Given the description of an element on the screen output the (x, y) to click on. 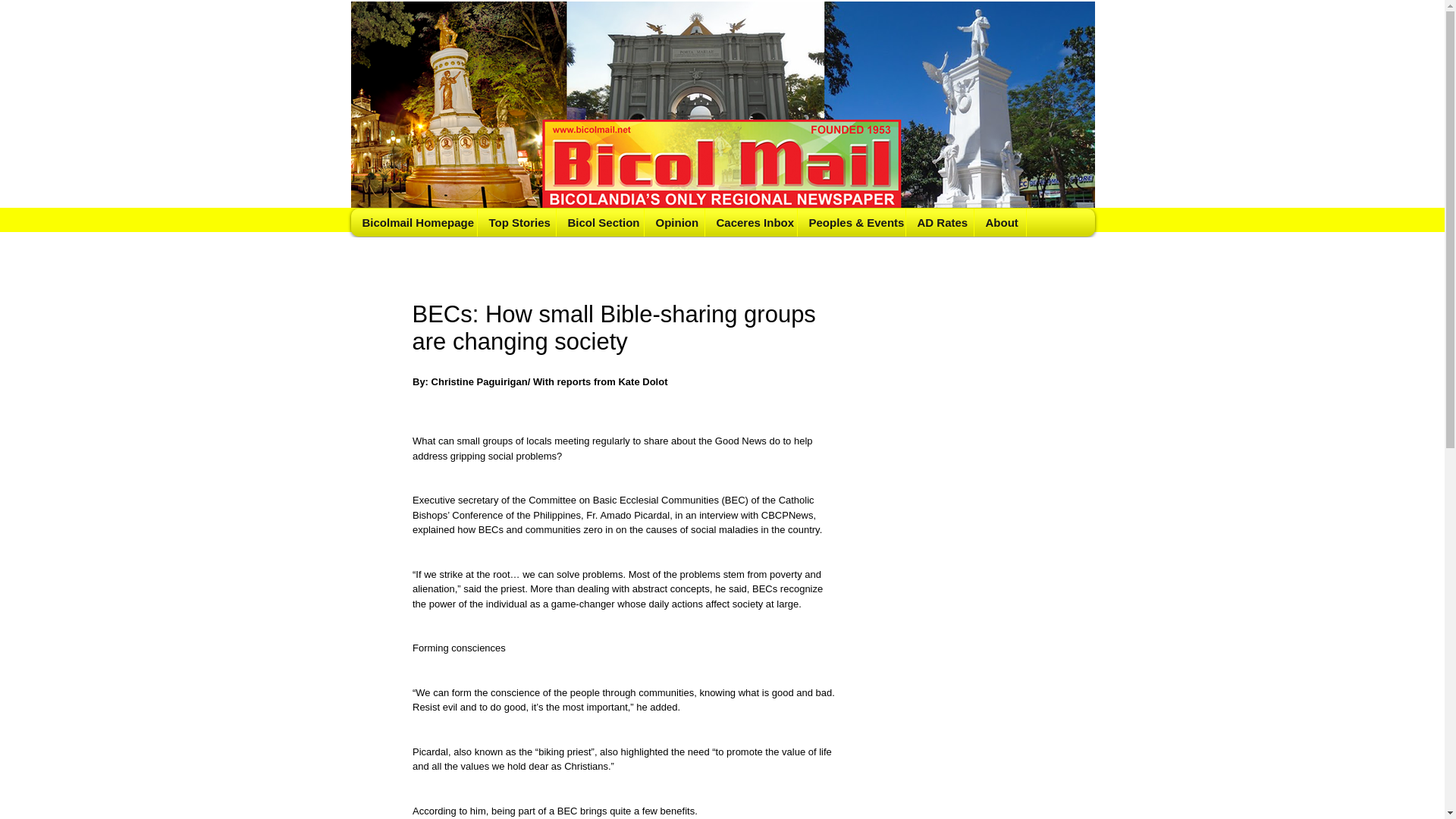
AD Rates (939, 222)
Caceres Inbox (749, 222)
Opinion (673, 222)
Bicol Section (599, 222)
About (1000, 222)
Top Stories (515, 222)
Bicolmail Homepage (414, 222)
